Given the description of an element on the screen output the (x, y) to click on. 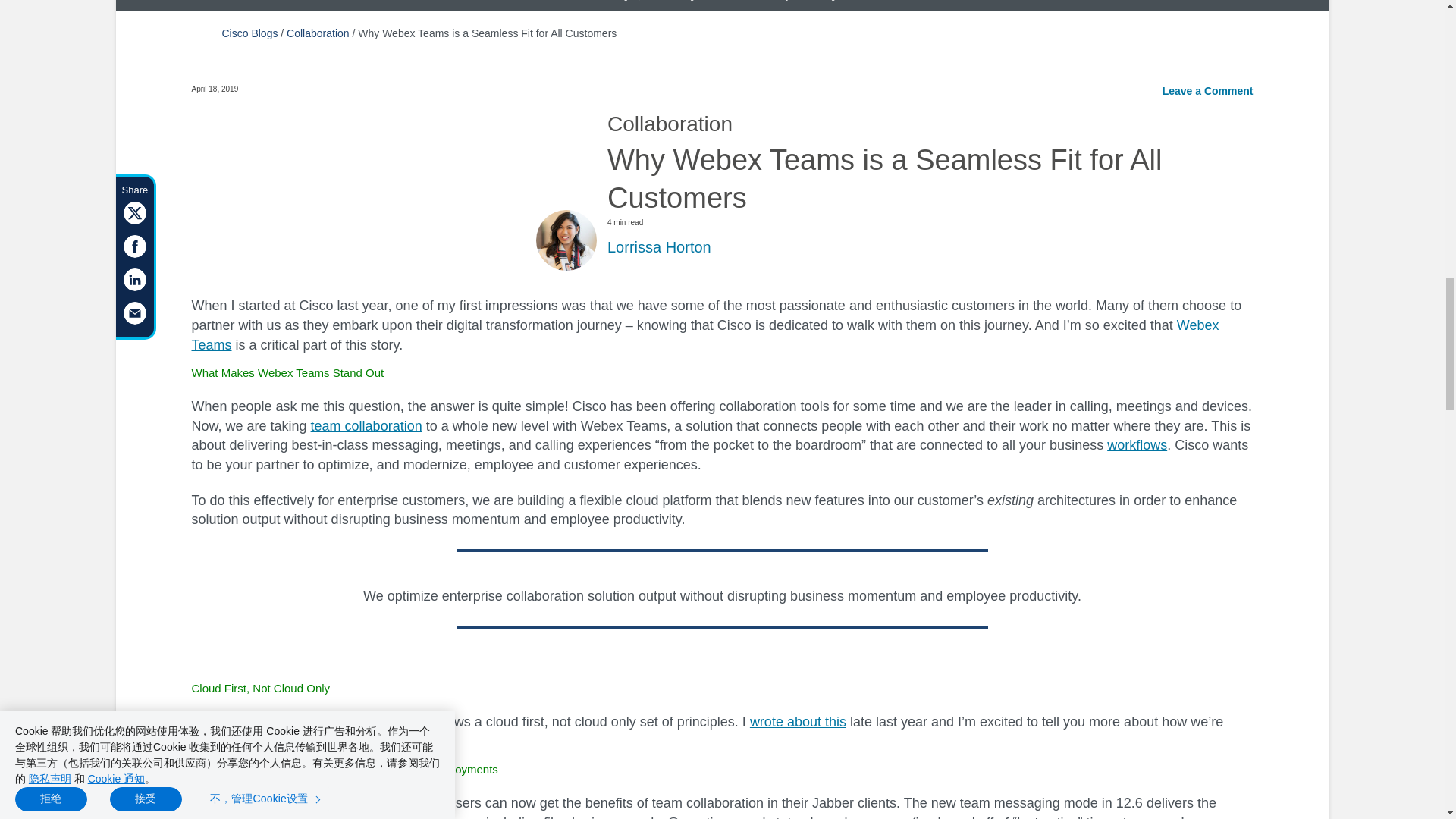
workflows (1136, 444)
Cisco Blogs (249, 33)
Lorrissa Horton (659, 247)
wrote about this (797, 721)
Webex Teams (704, 334)
Posts by Lorrissa Horton (659, 247)
team collaboration (366, 426)
Collaboration (317, 33)
